Given the description of an element on the screen output the (x, y) to click on. 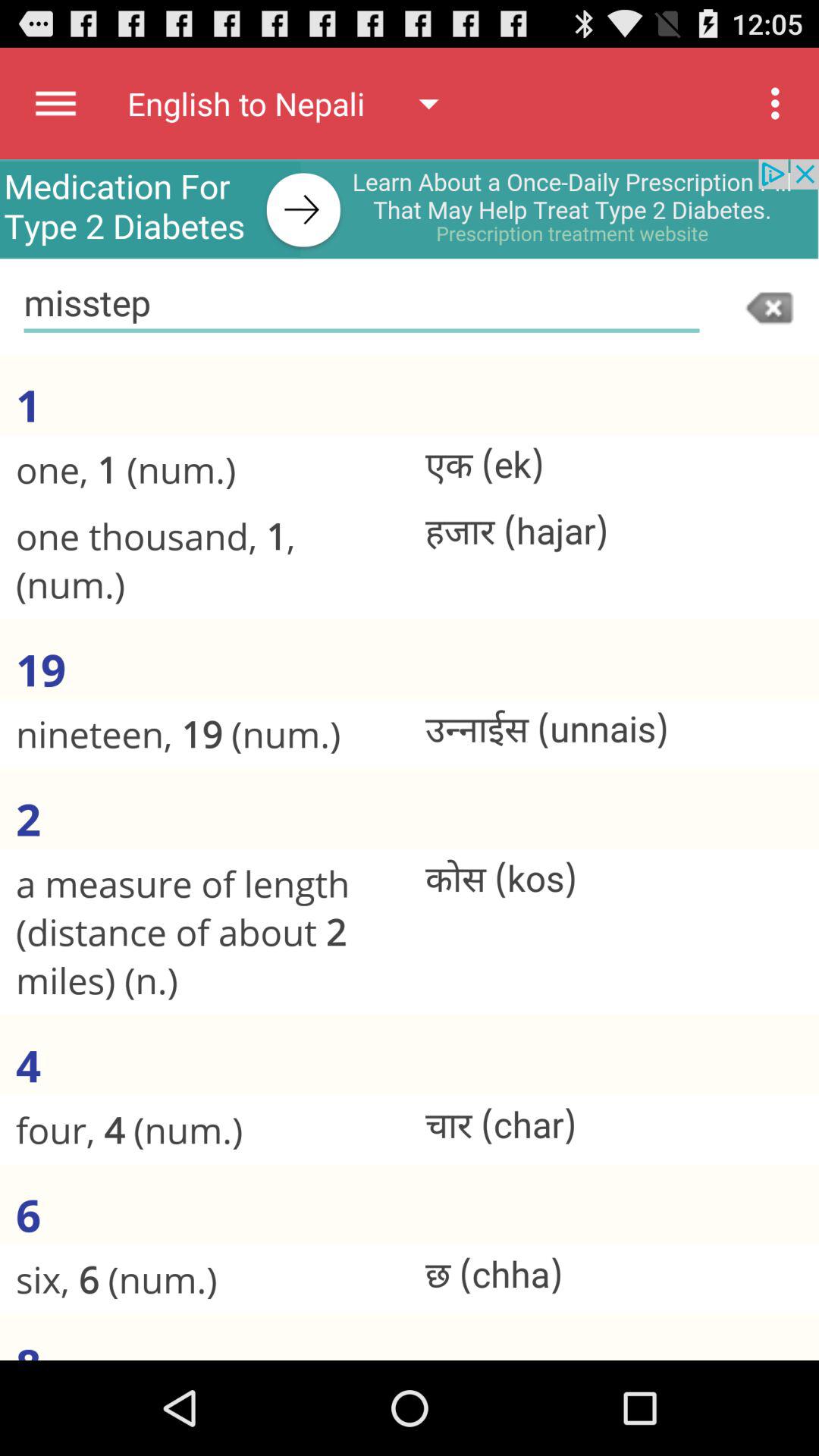
erase typed information (771, 306)
